Given the description of an element on the screen output the (x, y) to click on. 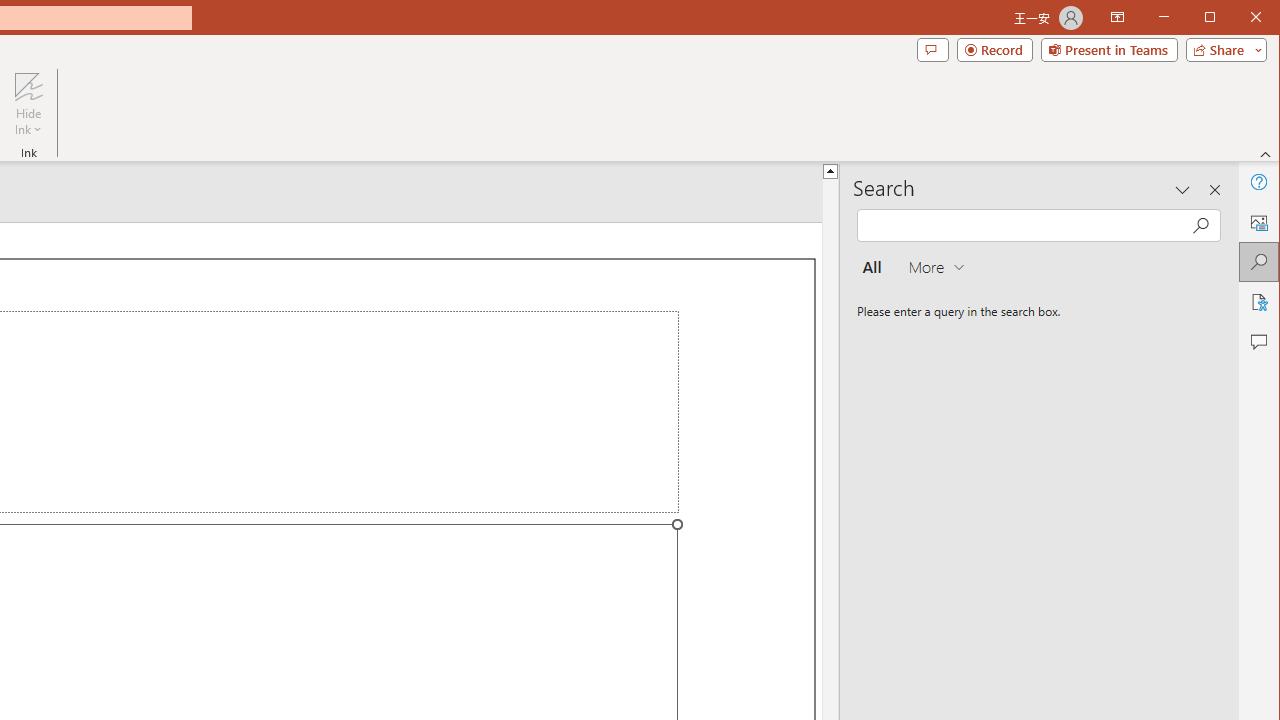
Line up (829, 170)
Hide Ink (28, 86)
Maximize (1238, 18)
Hide Ink (28, 104)
Alt Text (1258, 221)
Accessibility (1258, 301)
Close pane (1215, 189)
